Given the description of an element on the screen output the (x, y) to click on. 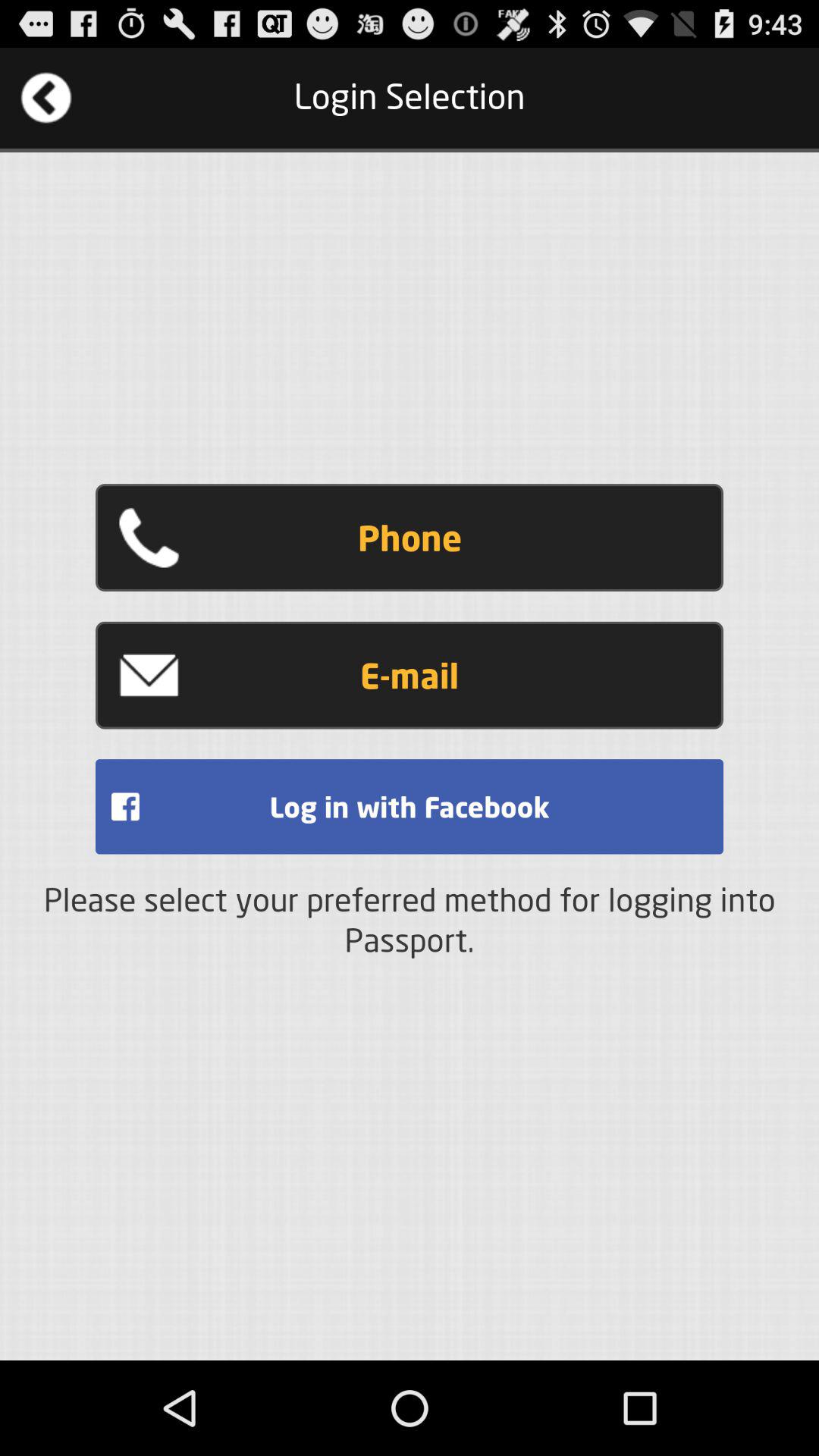
launch the log in with item (409, 806)
